Given the description of an element on the screen output the (x, y) to click on. 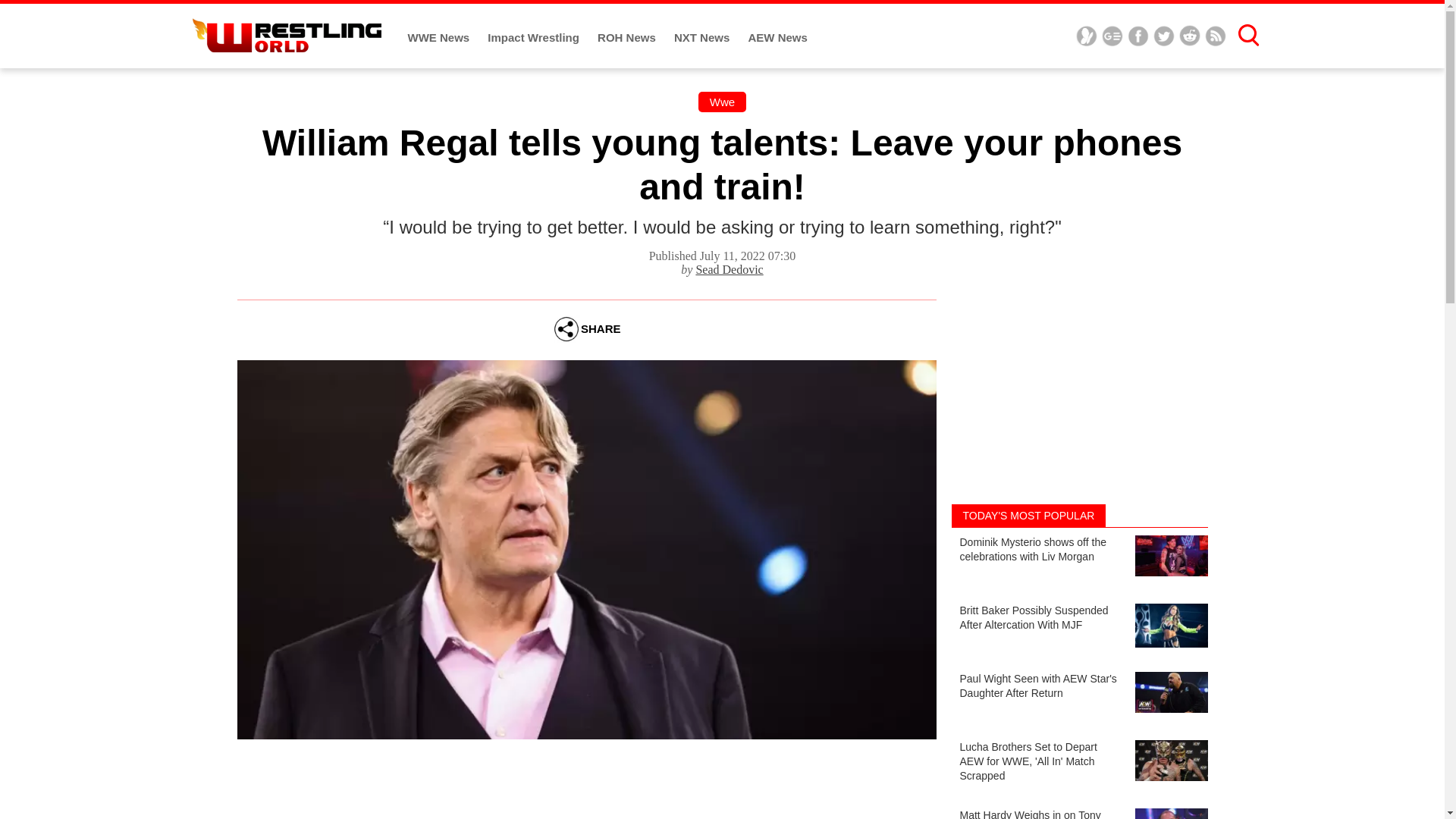
NXT News (703, 37)
Impact Wrestling (534, 37)
Dominik Mysterio shows off the celebrations with Liv Morgan (1078, 561)
AEW News (777, 37)
Wwe (722, 101)
Britt Baker Possibly Suspended After Altercation With MJF (1078, 629)
Paul Wight Seen with AEW Star's Daughter After Return (1078, 697)
ROH News (627, 37)
